Given the description of an element on the screen output the (x, y) to click on. 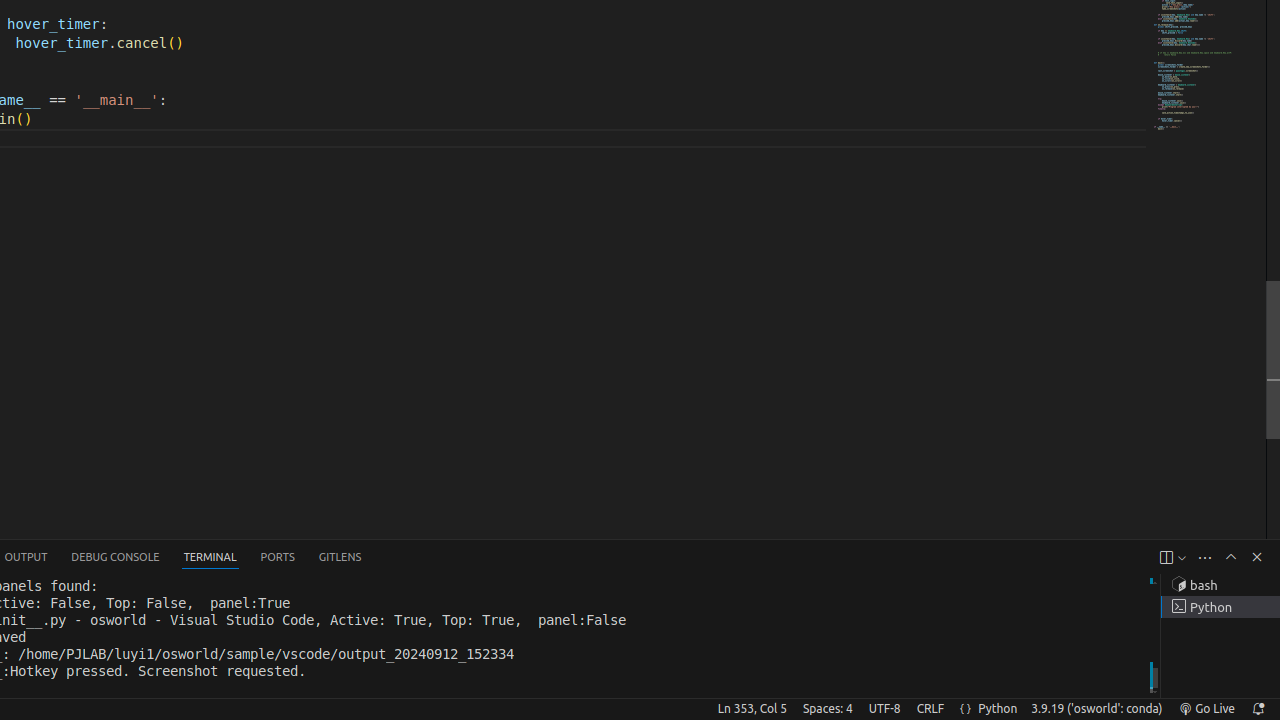
Terminal 5 Python Element type: list-item (1220, 607)
Views and More Actions... Element type: push-button (1205, 557)
Editor Language Status: Auto Import Completions: false, next: Type Checking: off Element type: push-button (965, 709)
Terminal 1 bash Element type: list-item (1220, 585)
3.9.19 ('osworld': conda), ~/anaconda3/envs/osworld/bin/python Element type: push-button (1097, 709)
